Given the description of an element on the screen output the (x, y) to click on. 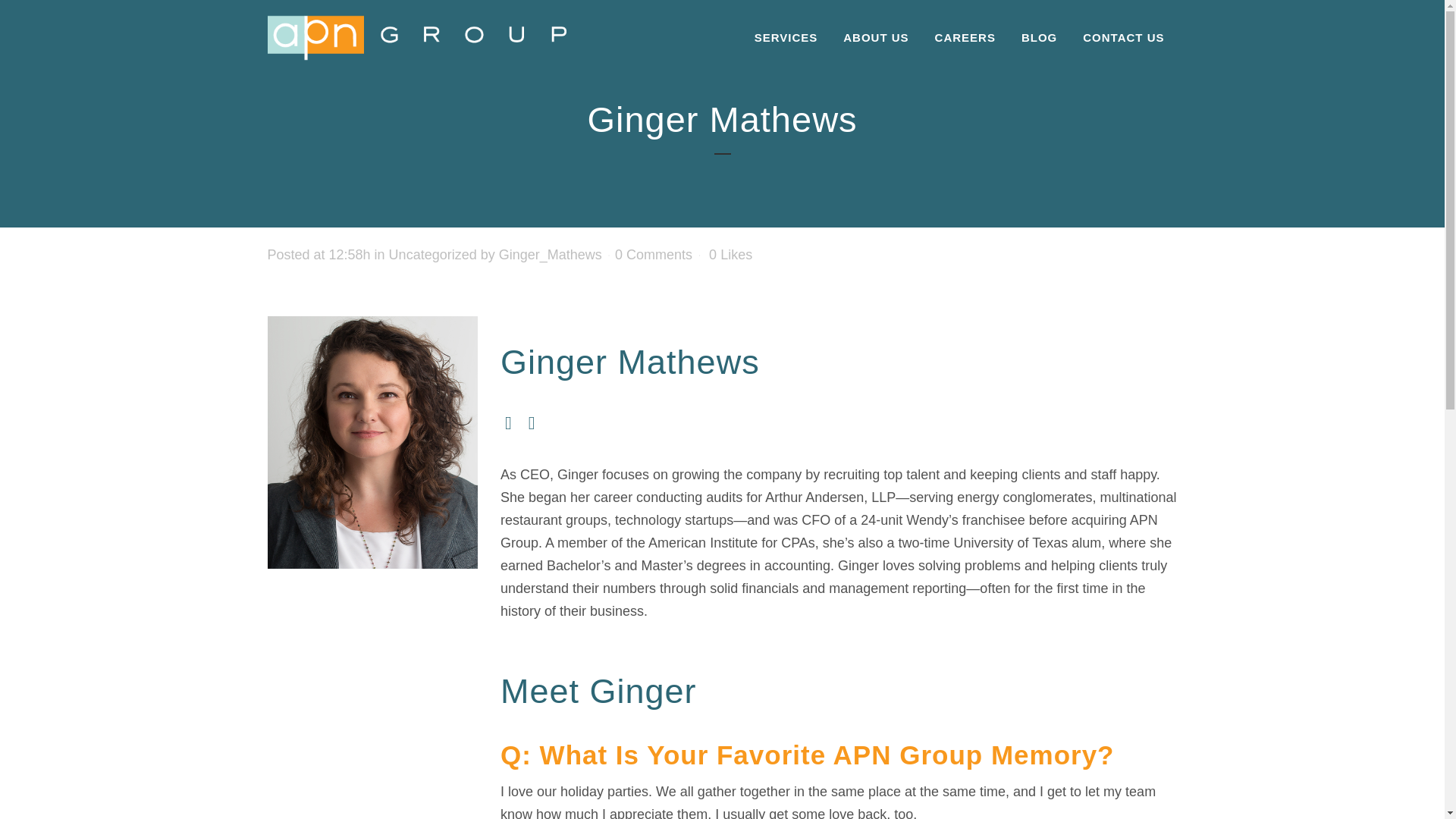
ABOUT US (875, 38)
CAREERS (965, 38)
0 Comments (653, 254)
SERVICES (786, 38)
CONTACT US (1123, 38)
Like this (730, 254)
0 Likes (730, 254)
